Given the description of an element on the screen output the (x, y) to click on. 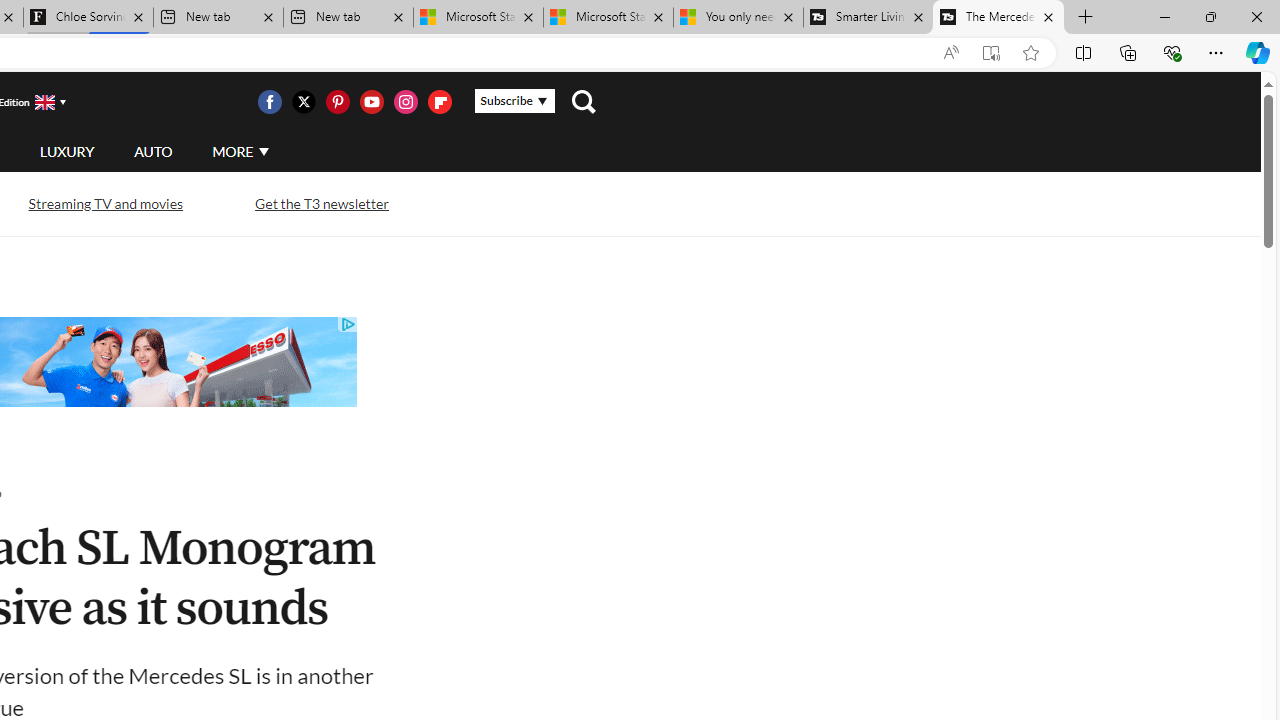
Streaming TV and movies (105, 202)
Visit us on Facebook (269, 101)
MORE  (239, 151)
Enter Immersive Reader (F9) (991, 53)
Get the T3 newsletter (322, 204)
Smarter Living | T3 (868, 17)
AUTO (153, 151)
AUTO (153, 151)
